Given the description of an element on the screen output the (x, y) to click on. 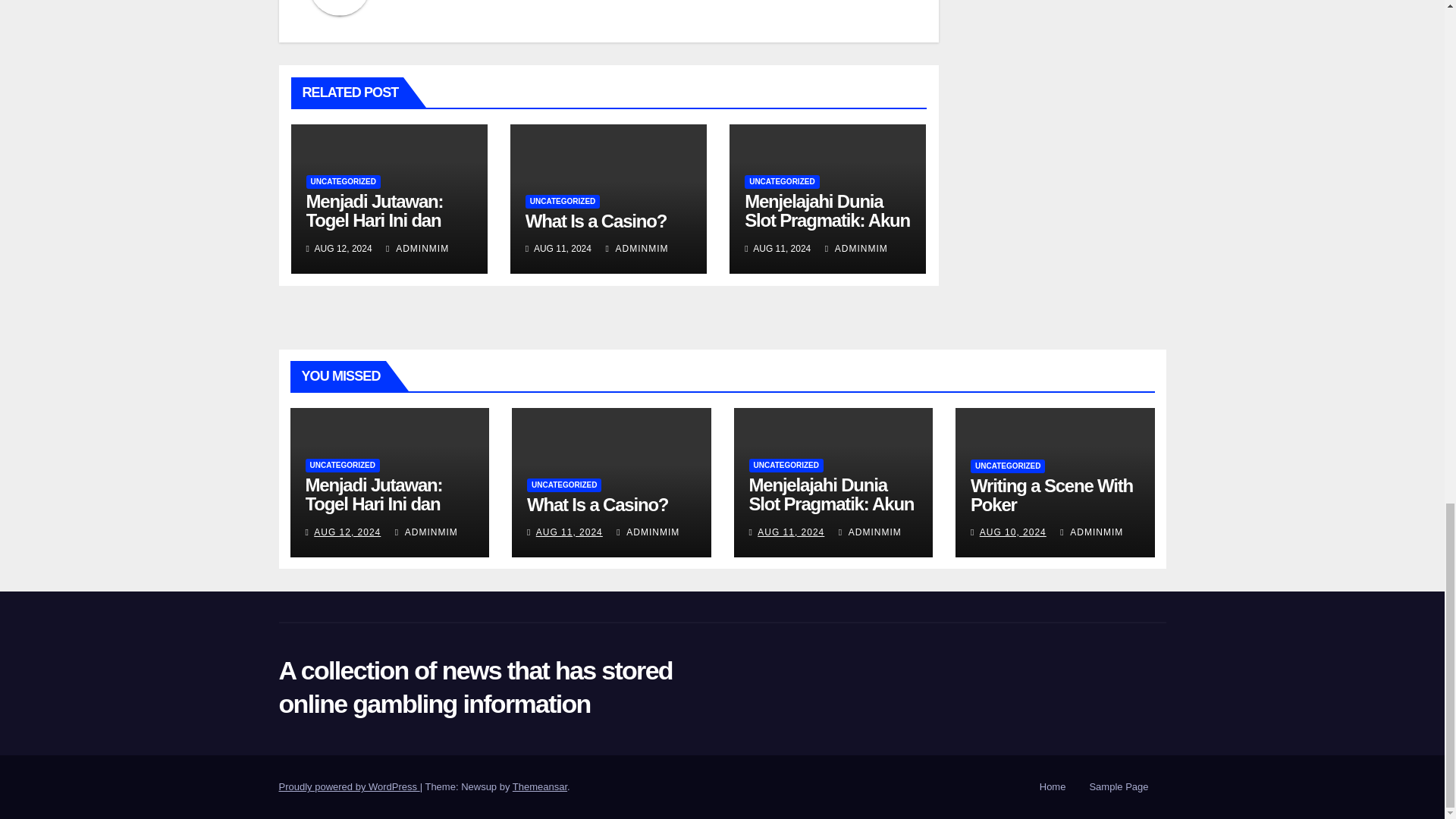
Permalink to: Writing a Scene With Poker (1051, 495)
Menjadi Jutawan: Togel Hari Ini dan Strategi Menang! (374, 219)
Permalink to: What Is a Casino? (597, 504)
ADMINMIM (416, 248)
ADMINMIM (636, 248)
What Is a Casino? (595, 220)
